Given the description of an element on the screen output the (x, y) to click on. 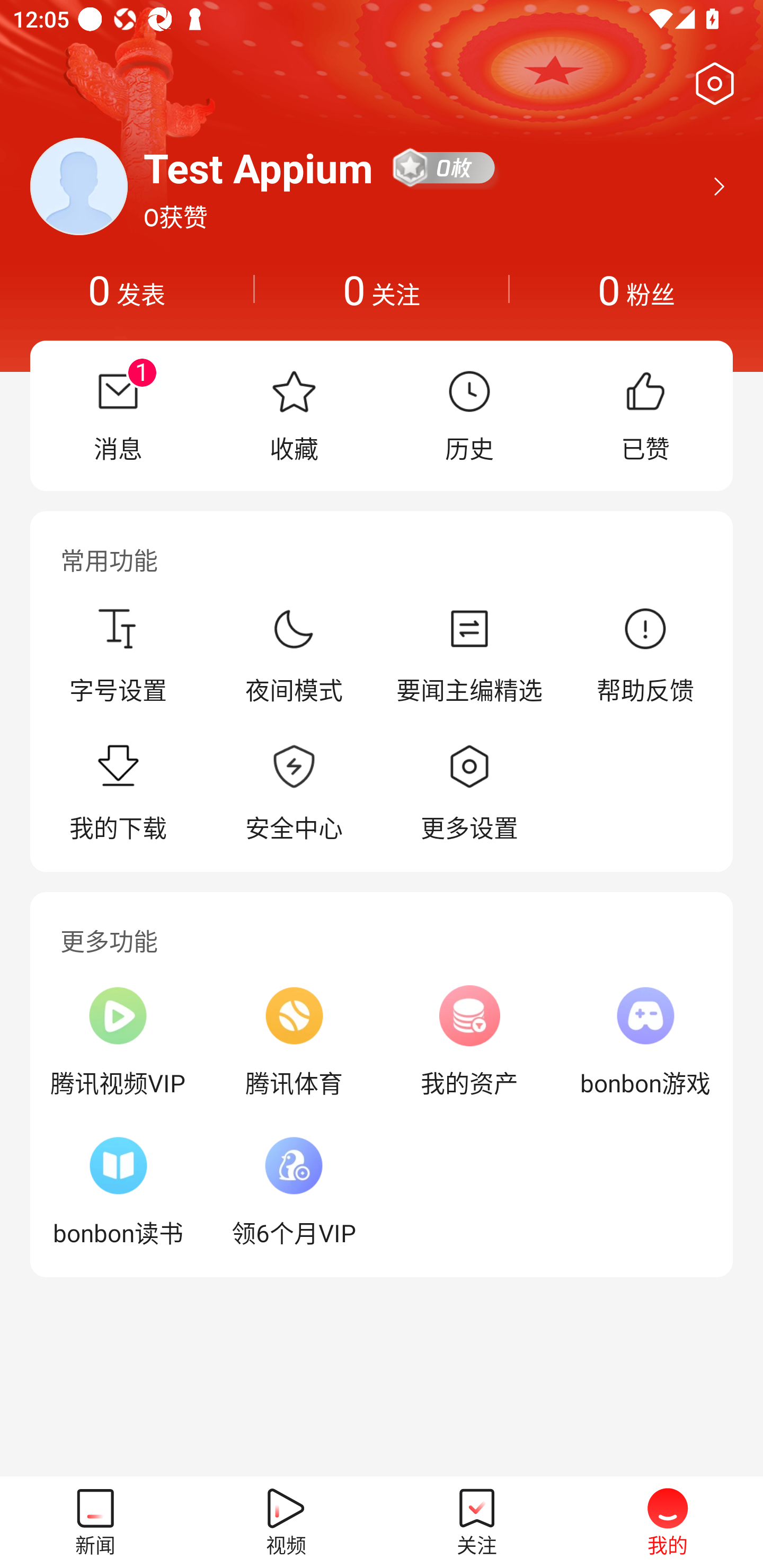
设置，可点击 (711, 83)
头像，可点击 (78, 186)
用户：Test Appium，可点击 (258, 167)
0枚勋章，可点击 (444, 167)
0发表，可点击 (126, 288)
0关注，可点击 (381, 288)
0粉丝，可点击 (636, 288)
消息，可点击 (118, 415)
收藏，可点击 (293, 415)
历史，可点击 (469, 415)
已赞，可点击 (644, 415)
字号设置，可点击 (118, 655)
夜间模式，可点击 (293, 655)
要闻主编精选，可点击 (469, 655)
帮助反馈，可点击 (644, 655)
我的下载，可点击 (118, 793)
安全中心，可点击 (293, 793)
更多设置，可点击 (469, 793)
腾讯视频VIP，可点击 (118, 1041)
腾讯体育，可点击 (293, 1041)
我的资产，可点击 (469, 1041)
bonbon游戏，可点击 (644, 1041)
bonbon读书，可点击 (118, 1191)
领6个月VIP，可点击 (293, 1191)
